Given the description of an element on the screen output the (x, y) to click on. 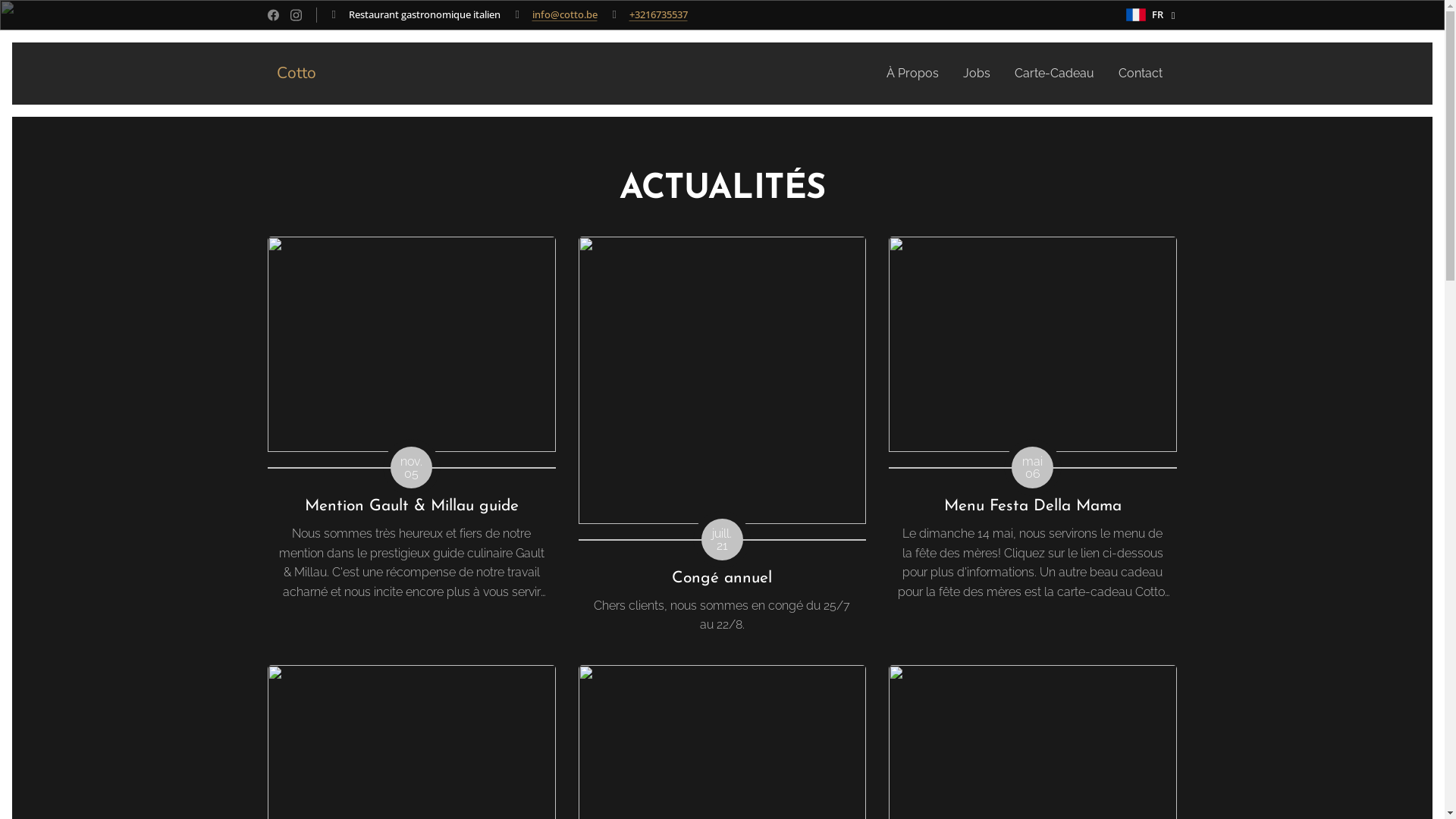
Facebook Element type: hover (272, 15)
Cotto Element type: text (292, 73)
Contact Element type: text (1133, 73)
Menu Festa Della Mama Element type: text (1032, 505)
Instagram Element type: hover (295, 15)
Carte-Cadeau Element type: text (1054, 73)
+3216735537 Element type: text (658, 14)
info@cotto.be Element type: text (564, 14)
Jobs Element type: text (976, 73)
Mention Gault & Millau guide Element type: text (410, 505)
